Given the description of an element on the screen output the (x, y) to click on. 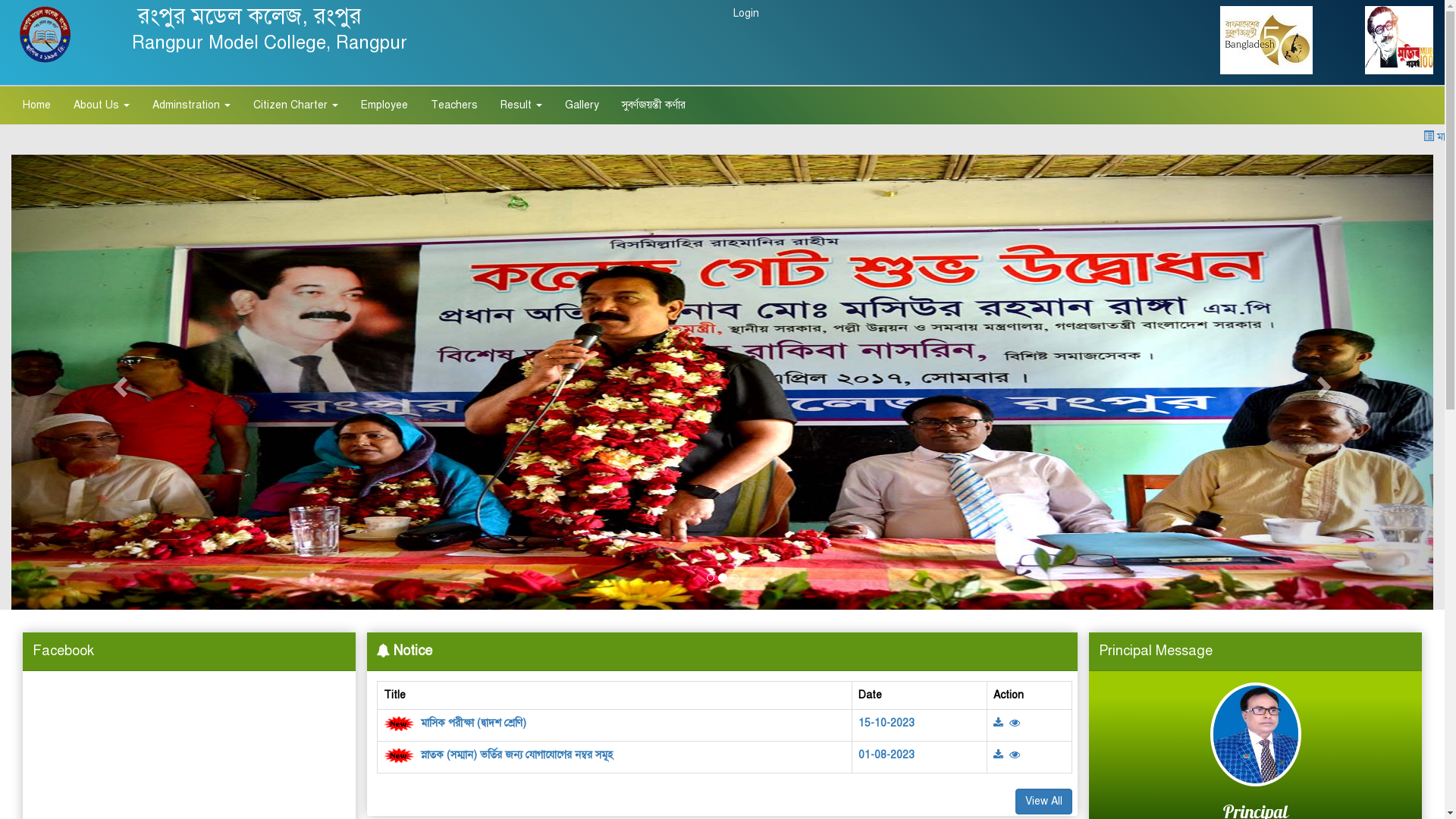
Gallery Element type: text (581, 105)
ImageName Element type: hover (1001, 754)
  Element type: text (1001, 754)
About Us Element type: text (101, 105)
01-08-2023 Element type: text (886, 754)
ImageName Element type: hover (1001, 722)
ImageName Element type: hover (1014, 722)
Login Element type: text (746, 12)
Teachers Element type: text (454, 105)
Home Element type: text (36, 105)
Citizen Charter Element type: text (295, 105)
Adminstration Element type: text (191, 105)
ImageName Element type: hover (1014, 754)
View All Element type: text (1043, 801)
15-10-2023 Element type: text (886, 722)
Result Element type: text (521, 105)
  Element type: text (1001, 722)
Employee Element type: text (384, 105)
